Given the description of an element on the screen output the (x, y) to click on. 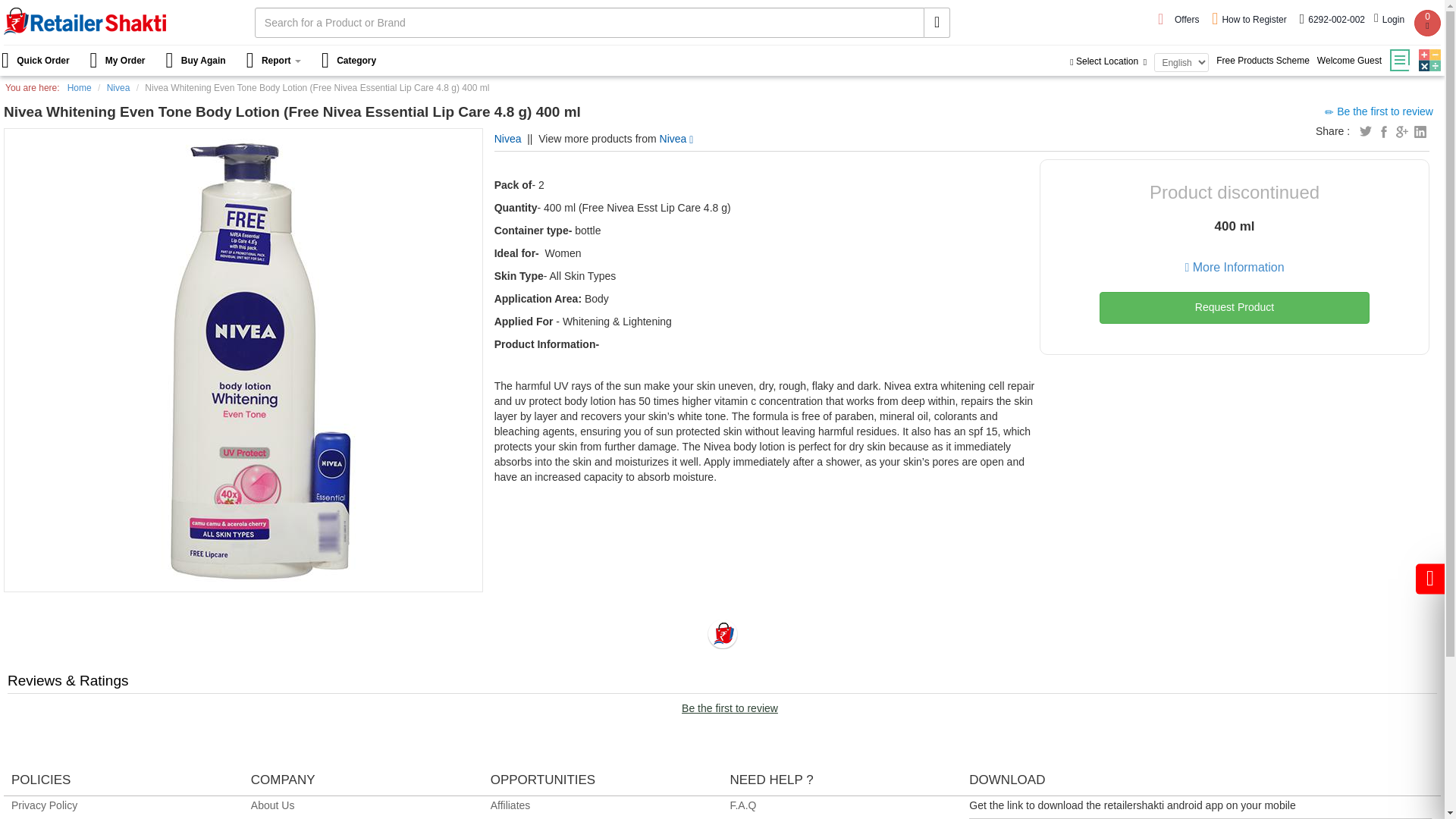
0 (1427, 22)
Buy Again (197, 60)
Quick Order (40, 60)
Offers (1188, 19)
How to Register (1250, 19)
Free Products Scheme (1262, 60)
Nivea (676, 138)
Nivea (508, 138)
Welcome Guest (1349, 60)
Loading.. (721, 634)
